Given the description of an element on the screen output the (x, y) to click on. 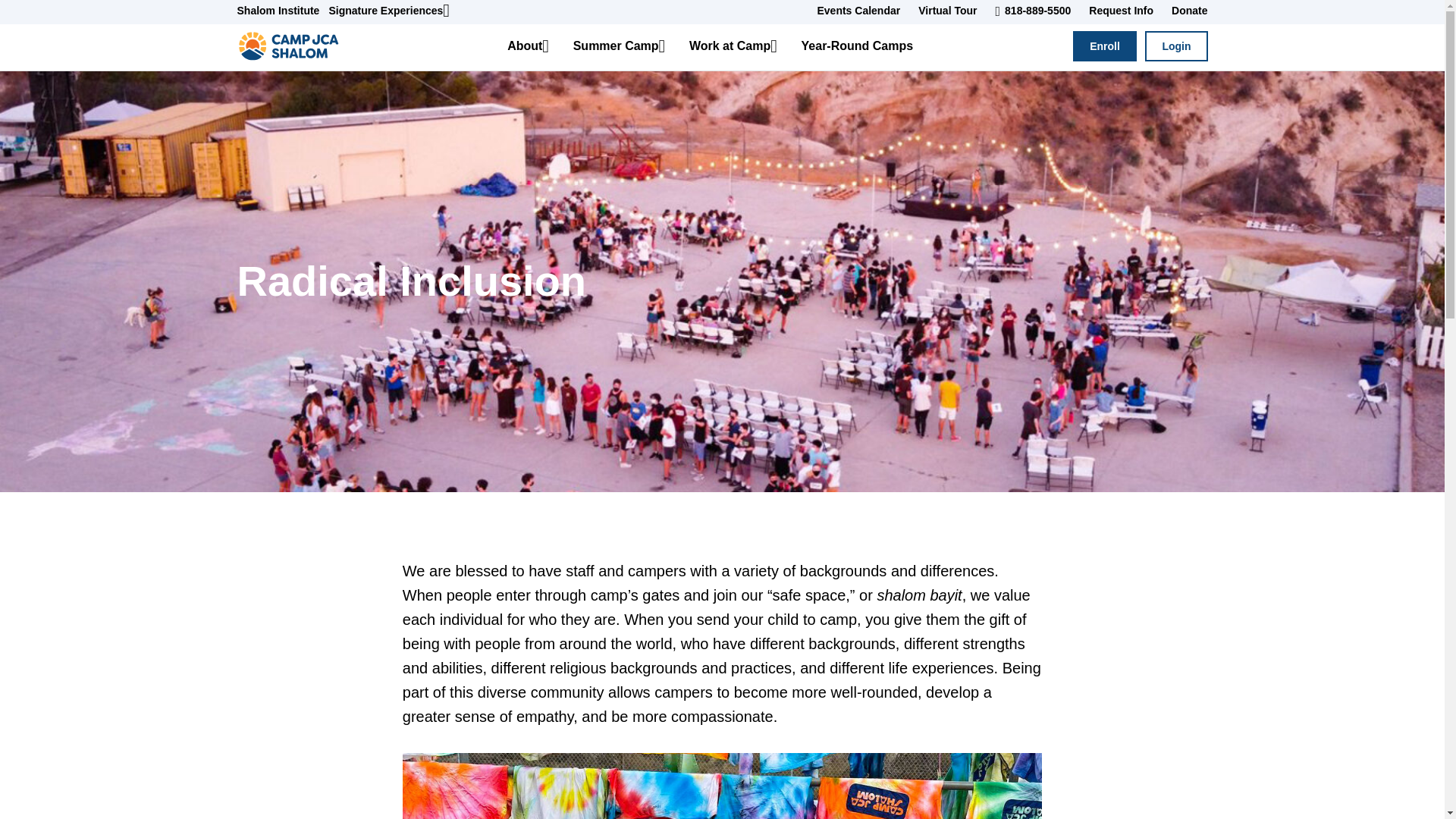
Work at Camp (733, 46)
Donate (1184, 10)
Summer Camp (618, 46)
About (527, 46)
Events Calendar (859, 10)
Virtual Tour (946, 10)
818-889-5500 (1032, 10)
Shalom Institute (282, 10)
Enroll (1105, 46)
Signature Experiences (393, 11)
